Given the description of an element on the screen output the (x, y) to click on. 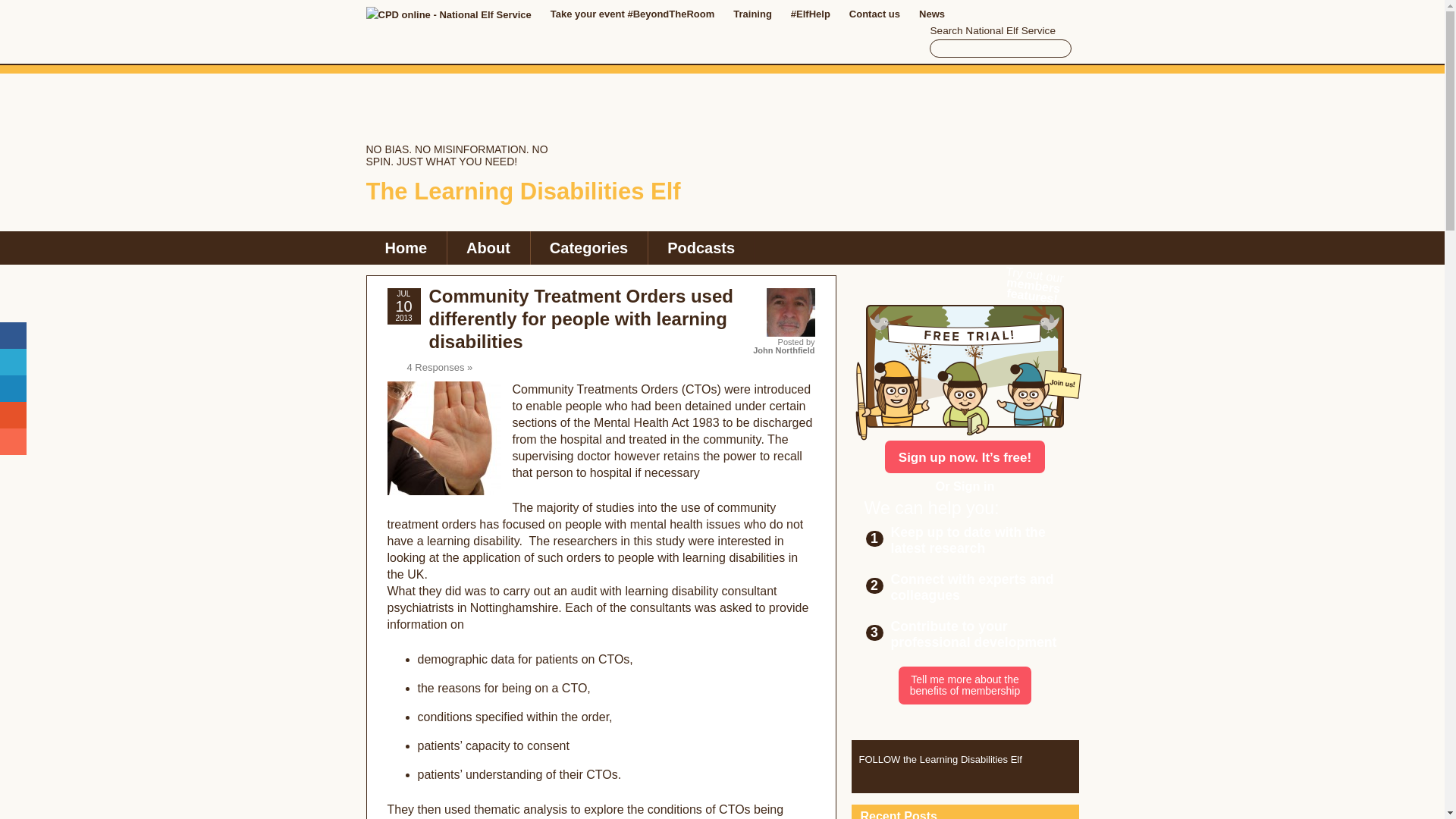
Training (752, 13)
Contact us (873, 13)
Tweet this on Twitter (13, 361)
Home (405, 247)
Share on Facebook (13, 335)
Posts by John Northfield (782, 349)
News (931, 13)
Share via sharethis (13, 441)
Share on LinkedIn (13, 388)
